Given the description of an element on the screen output the (x, y) to click on. 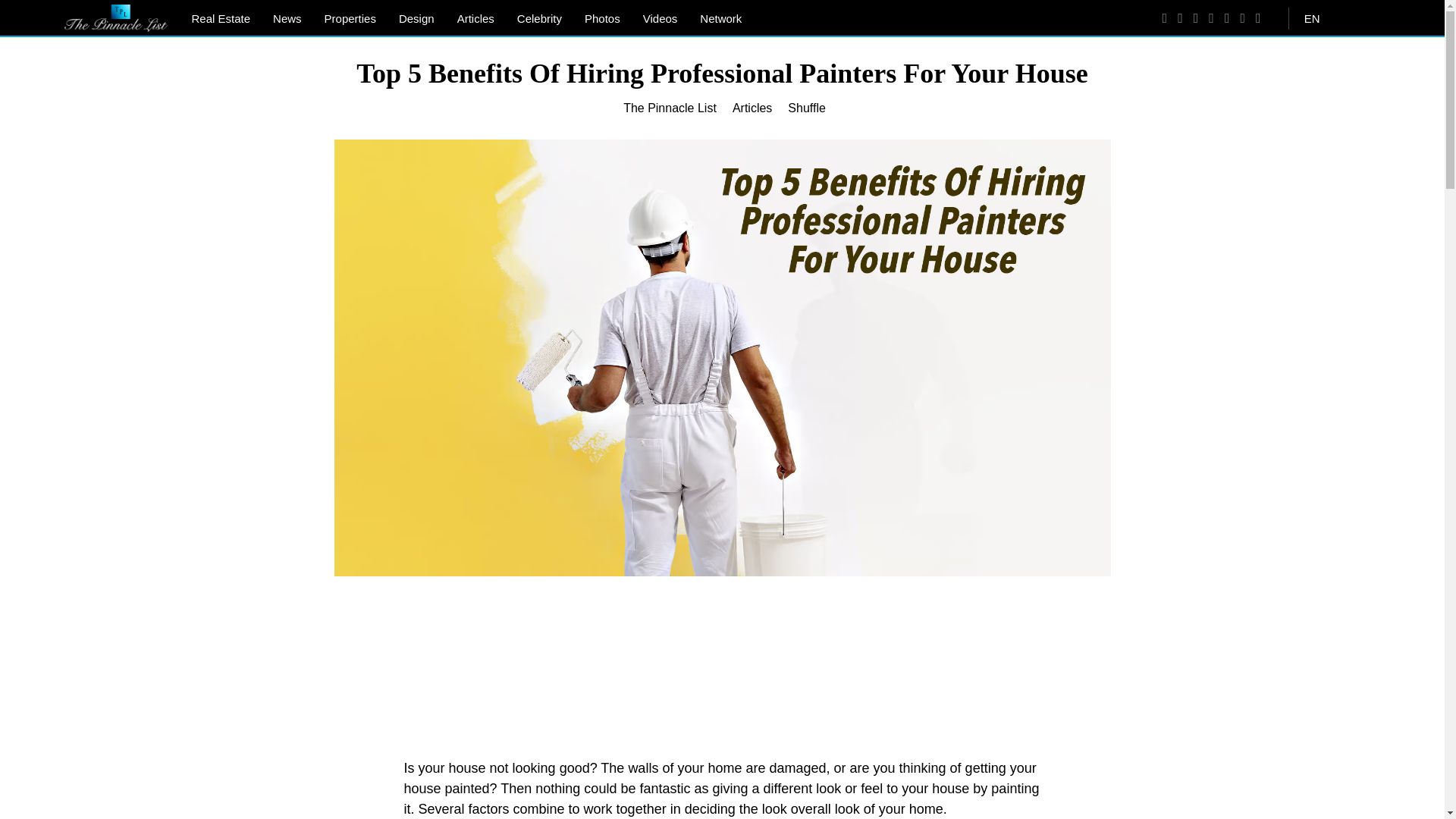
Articles (475, 18)
Photos (602, 18)
News (287, 18)
Real Estate (221, 18)
Articles (751, 107)
Properties (350, 18)
Posts by The Pinnacle List (669, 107)
Celebrity (539, 18)
Design (416, 18)
Videos (659, 18)
